Given the description of an element on the screen output the (x, y) to click on. 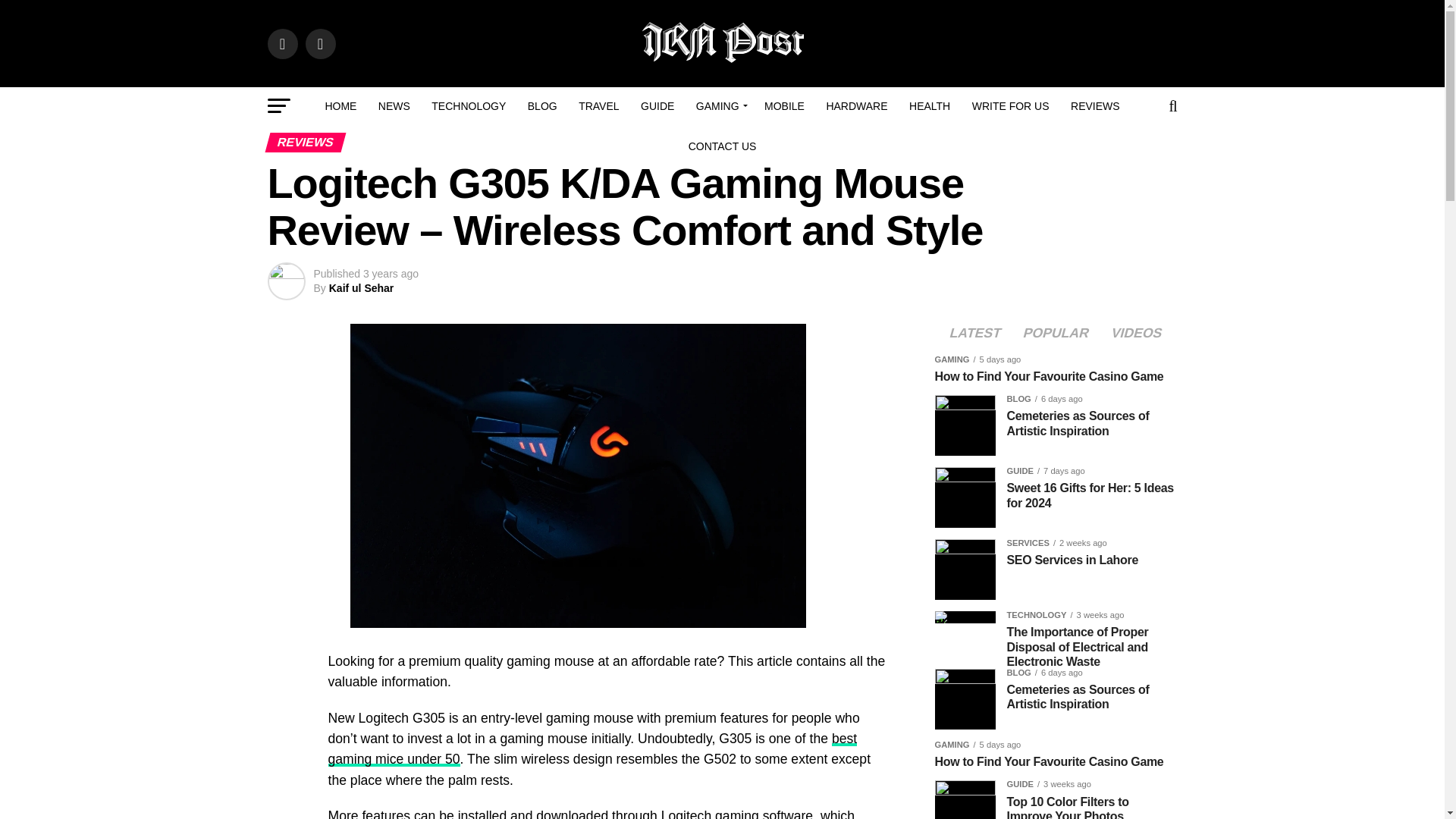
NEWS (394, 105)
GUIDE (656, 105)
TRAVEL (598, 105)
Posts by Kaif ul Sehar (361, 287)
GAMING (719, 105)
TECHNOLOGY (468, 105)
HOME (340, 105)
BLOG (542, 105)
